Given the description of an element on the screen output the (x, y) to click on. 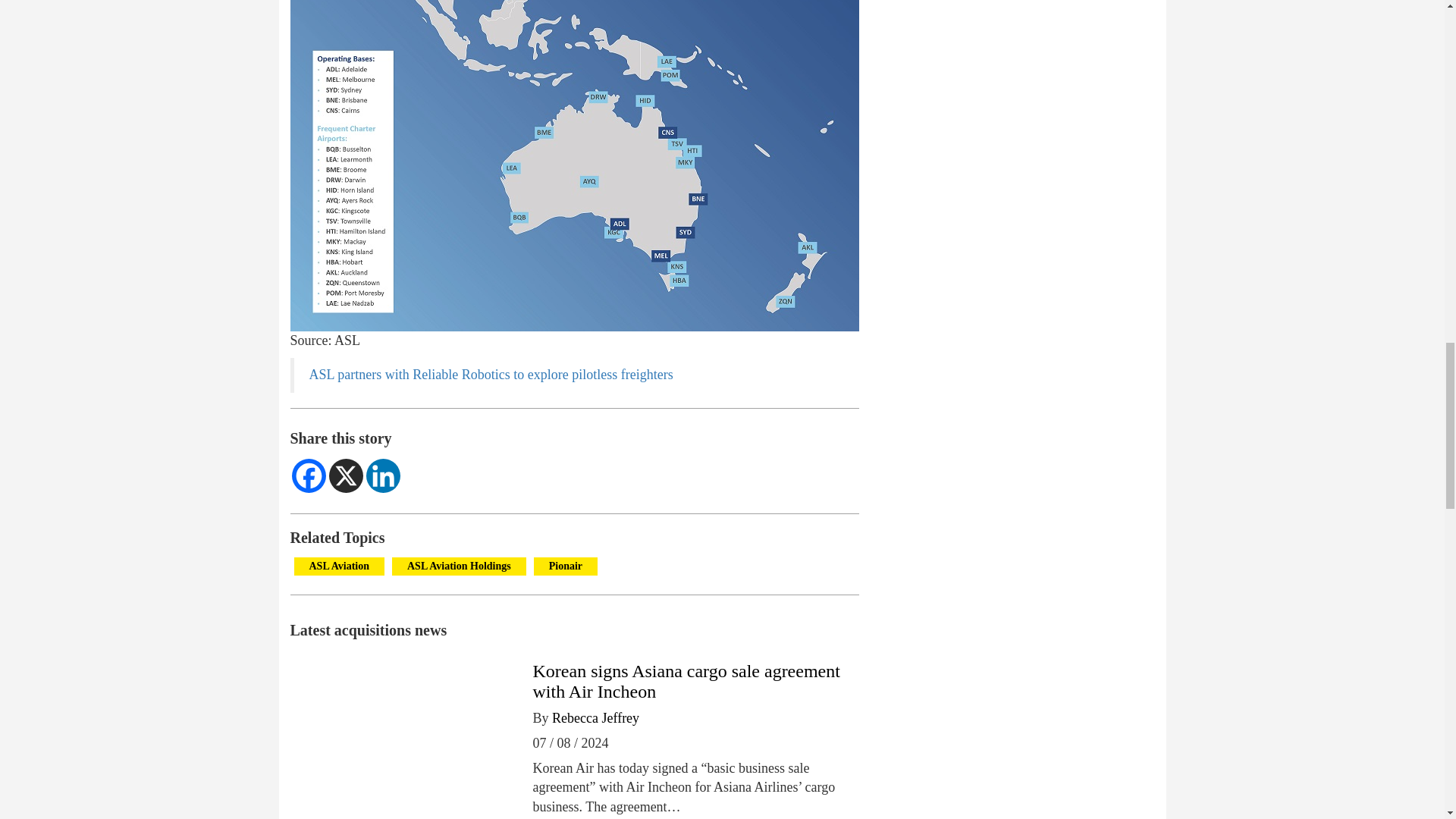
Linkedin (381, 475)
Facebook (307, 475)
X (345, 475)
